Given the description of an element on the screen output the (x, y) to click on. 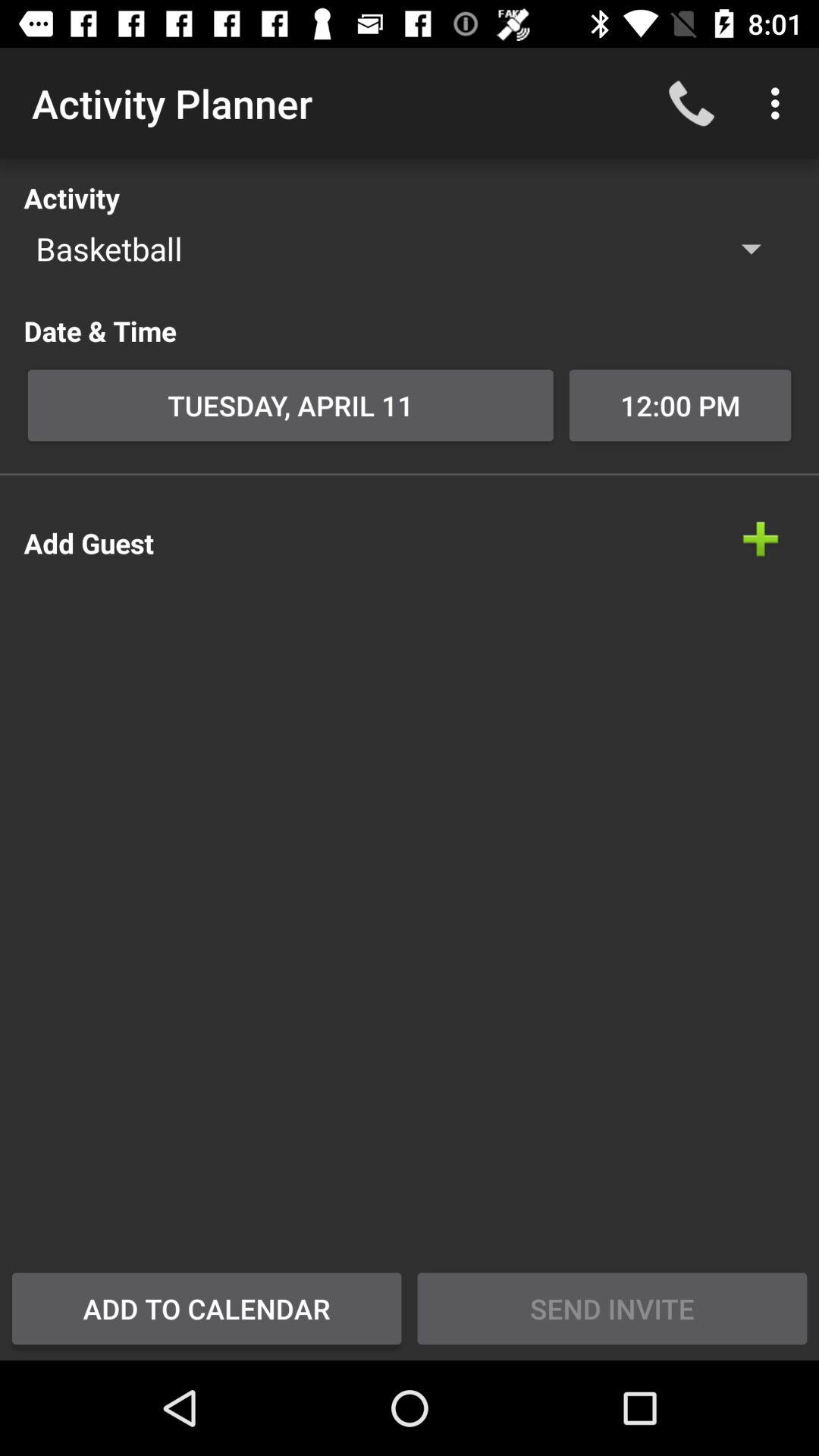
press item next to the add to calendar (612, 1308)
